Given the description of an element on the screen output the (x, y) to click on. 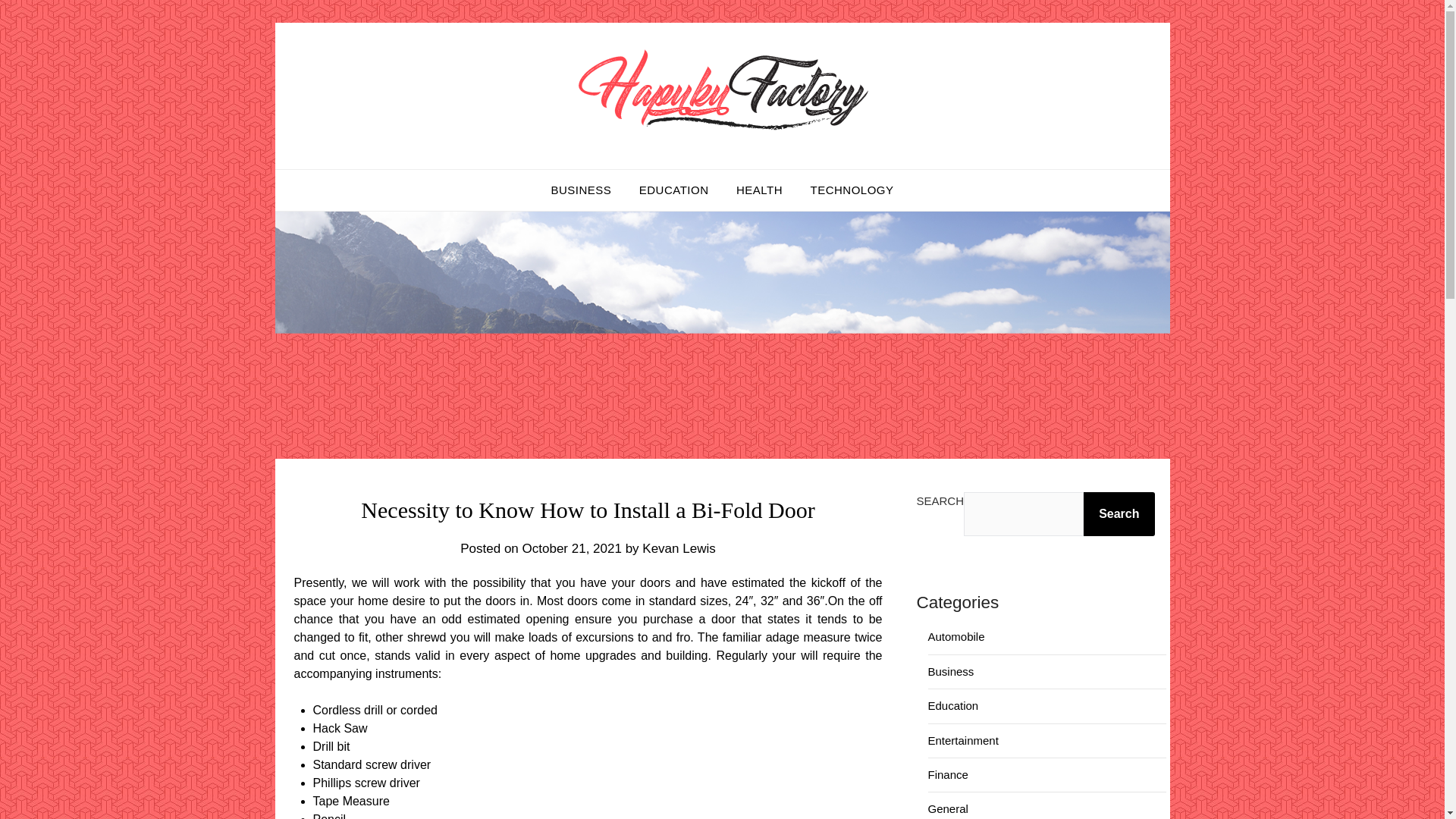
TECHNOLOGY (851, 189)
Entertainment (963, 739)
HEALTH (758, 189)
October 21, 2021 (571, 548)
Business (951, 671)
Kevan Lewis (678, 548)
General (948, 808)
Finance (948, 774)
EDUCATION (673, 189)
Automobile (956, 635)
